Given the description of an element on the screen output the (x, y) to click on. 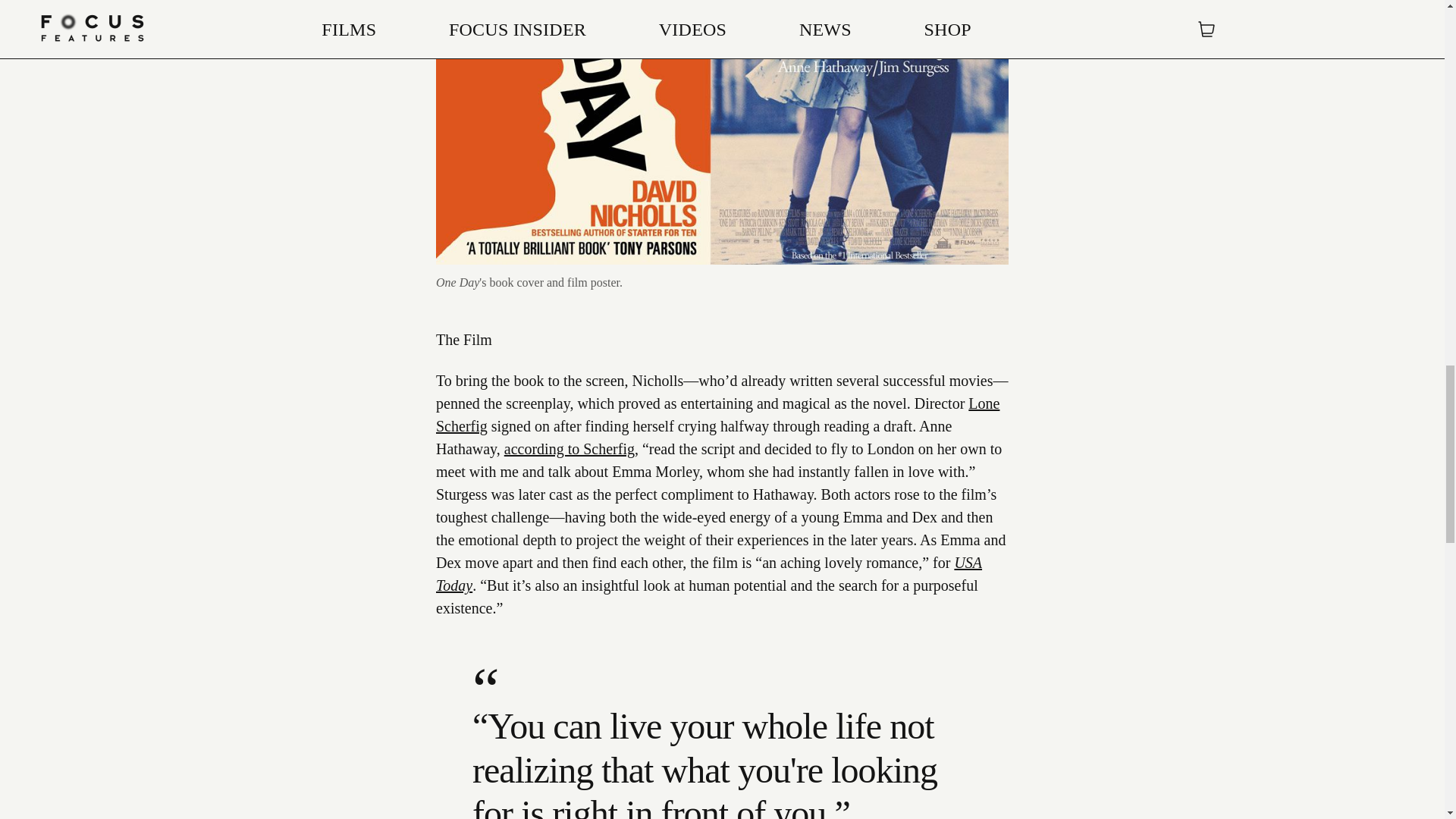
USA Today (708, 573)
Lone Scherfig (716, 414)
according to Scherfig (568, 448)
